Given the description of an element on the screen output the (x, y) to click on. 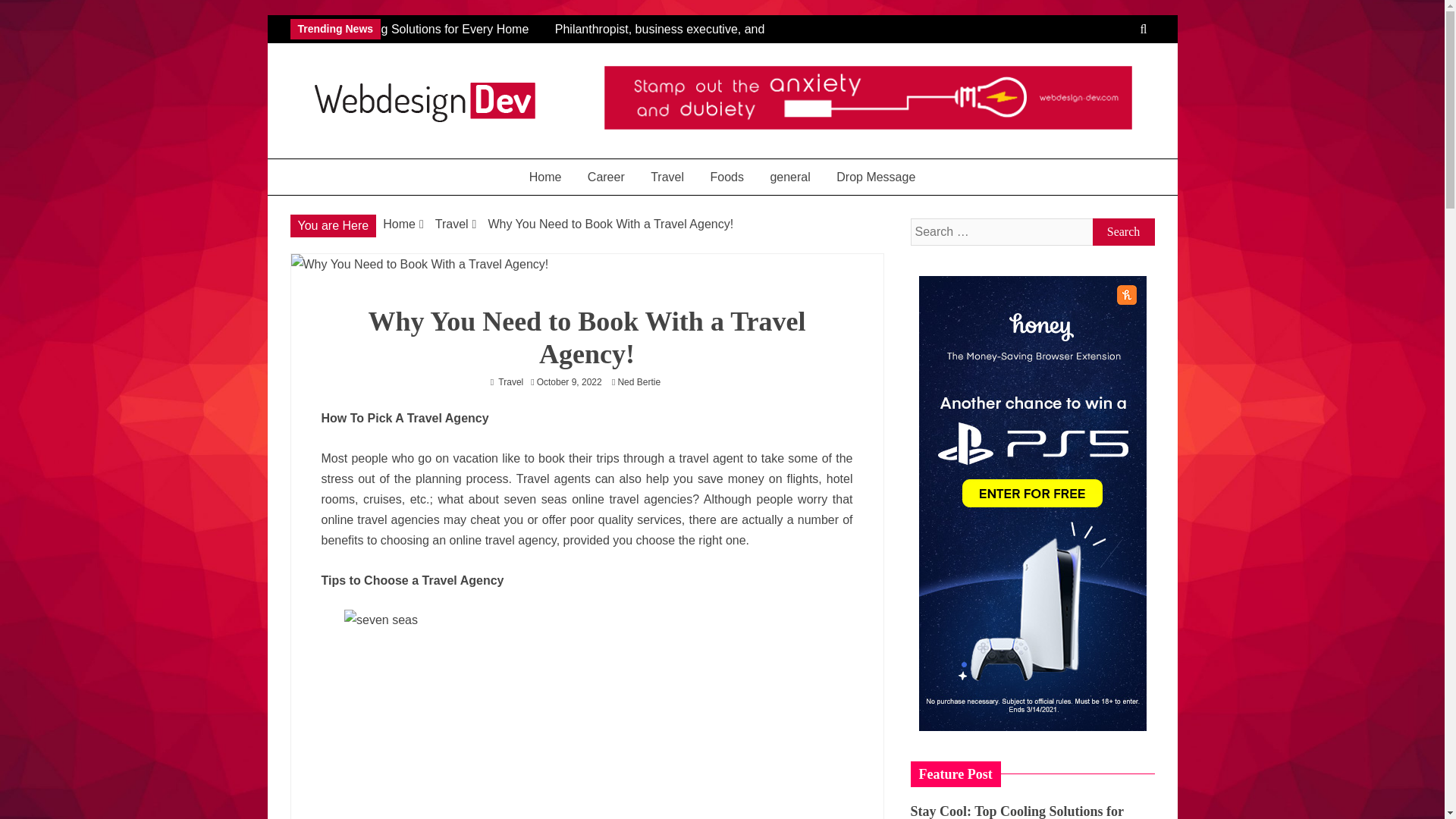
Stay Cool: Top Cooling Solutions for Every Home (413, 29)
Webdesign Dev (402, 143)
Drop Message (875, 176)
October 9, 2022 (569, 381)
Search (1123, 231)
Travel (451, 223)
Ned Bertie (642, 381)
Stay Cool: Top Cooling Solutions for Every Home (422, 29)
general (789, 176)
Travel (509, 381)
Home (545, 176)
Search (1123, 231)
